Given the description of an element on the screen output the (x, y) to click on. 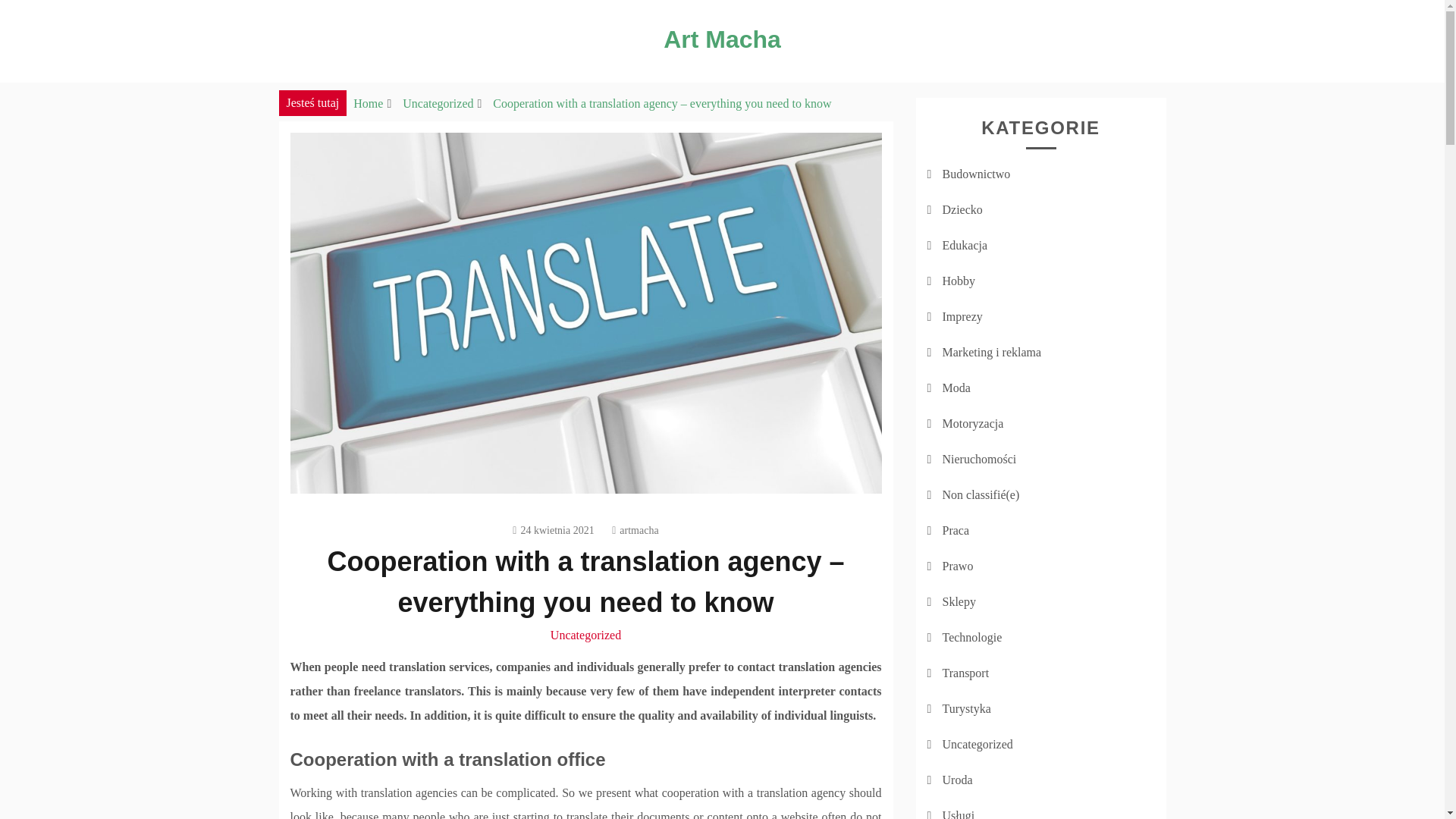
artmacha (634, 530)
Uncategorized (438, 103)
Dziecko (961, 209)
Imprezy (961, 316)
Motoryzacja (972, 422)
Art Macha (721, 39)
Moda (955, 387)
24 kwietnia 2021 (553, 530)
Hobby (958, 280)
Home (367, 103)
